Given the description of an element on the screen output the (x, y) to click on. 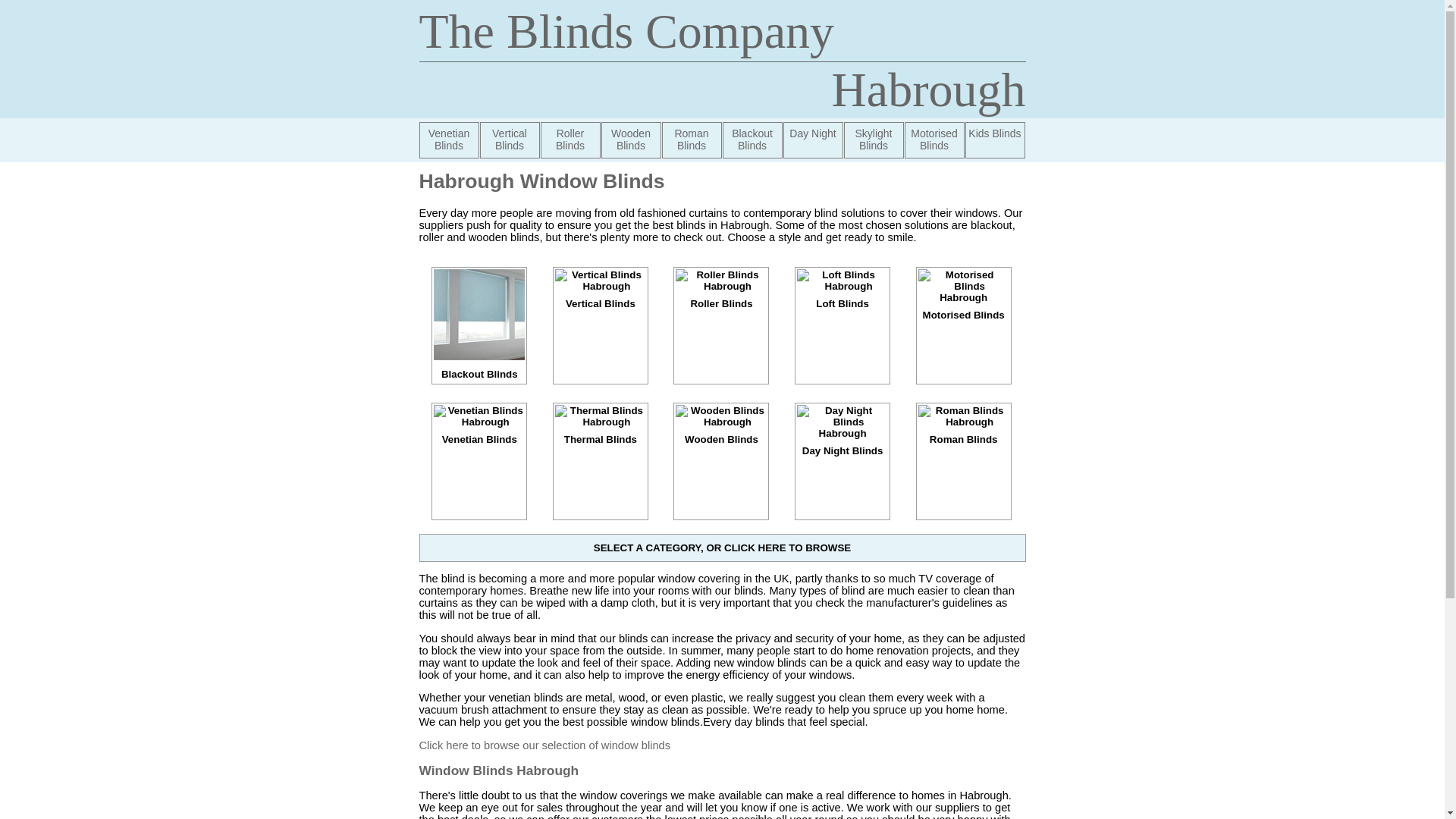
SELECT A CATEGORY, OR CLICK HERE TO BROWSE (722, 547)
Kids Blinds Habrough (994, 140)
Wooden Blinds Habrough (630, 140)
Motorised Blinds (933, 140)
Vertical Blinds Habrough (508, 140)
Venetian Blinds Habrough (449, 140)
Roller Blinds (721, 294)
Blackout Blinds (478, 368)
Day Night Blinds (842, 441)
Thermal Blinds (600, 430)
Blackout Blinds (751, 140)
Click here to browse our selection of window blinds (544, 745)
Skylight Blinds (872, 140)
Day Night (813, 140)
Wooden Blinds (630, 140)
